Given the description of an element on the screen output the (x, y) to click on. 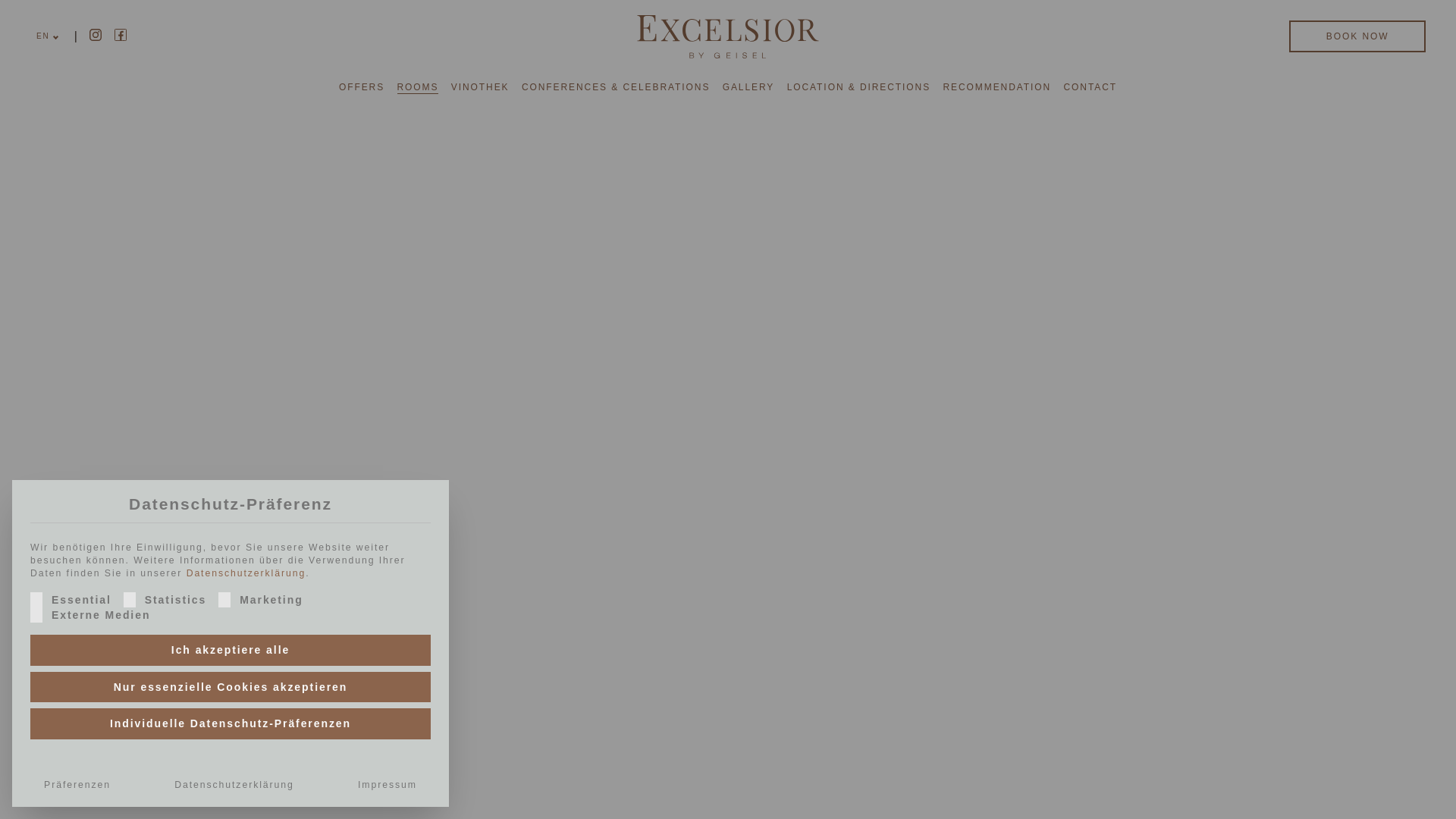
VINOTHEK (480, 86)
OFFERS (361, 86)
BOOK NOW (1356, 36)
GALLERY (748, 86)
RECOMMENDATION (996, 86)
ROOMS (418, 86)
Facebook (120, 34)
Instagram (94, 34)
